Given the description of an element on the screen output the (x, y) to click on. 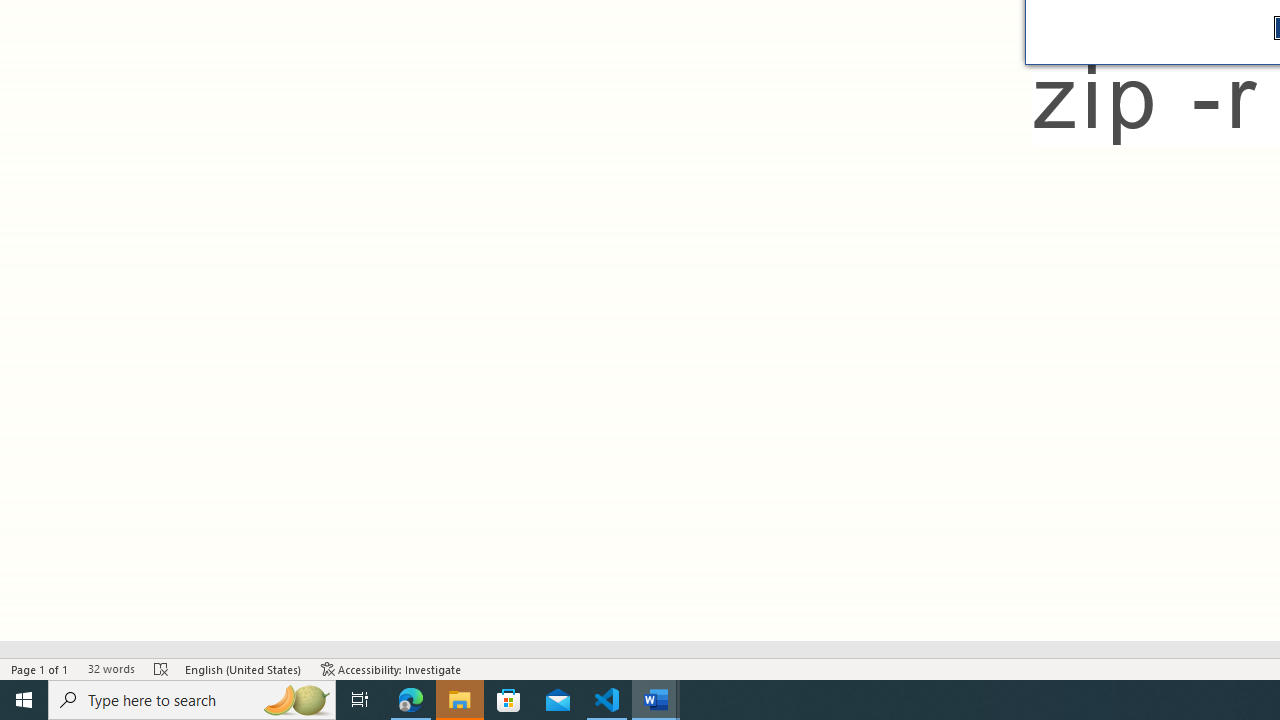
Language English (United States) (243, 668)
Microsoft Edge - 1 running window (411, 699)
Page Number Page 1 of 1 (39, 668)
Visual Studio Code - 1 running window (607, 699)
Microsoft Store (509, 699)
File Explorer - 1 running window (460, 699)
Word Count 32 words (111, 668)
Task View (359, 699)
Search highlights icon opens search home window (295, 699)
Accessibility Checker Accessibility: Investigate (391, 668)
Spelling and Grammar Check Errors (161, 668)
Word - 2 running windows (656, 699)
Type here to search (191, 699)
Start (24, 699)
